Given the description of an element on the screen output the (x, y) to click on. 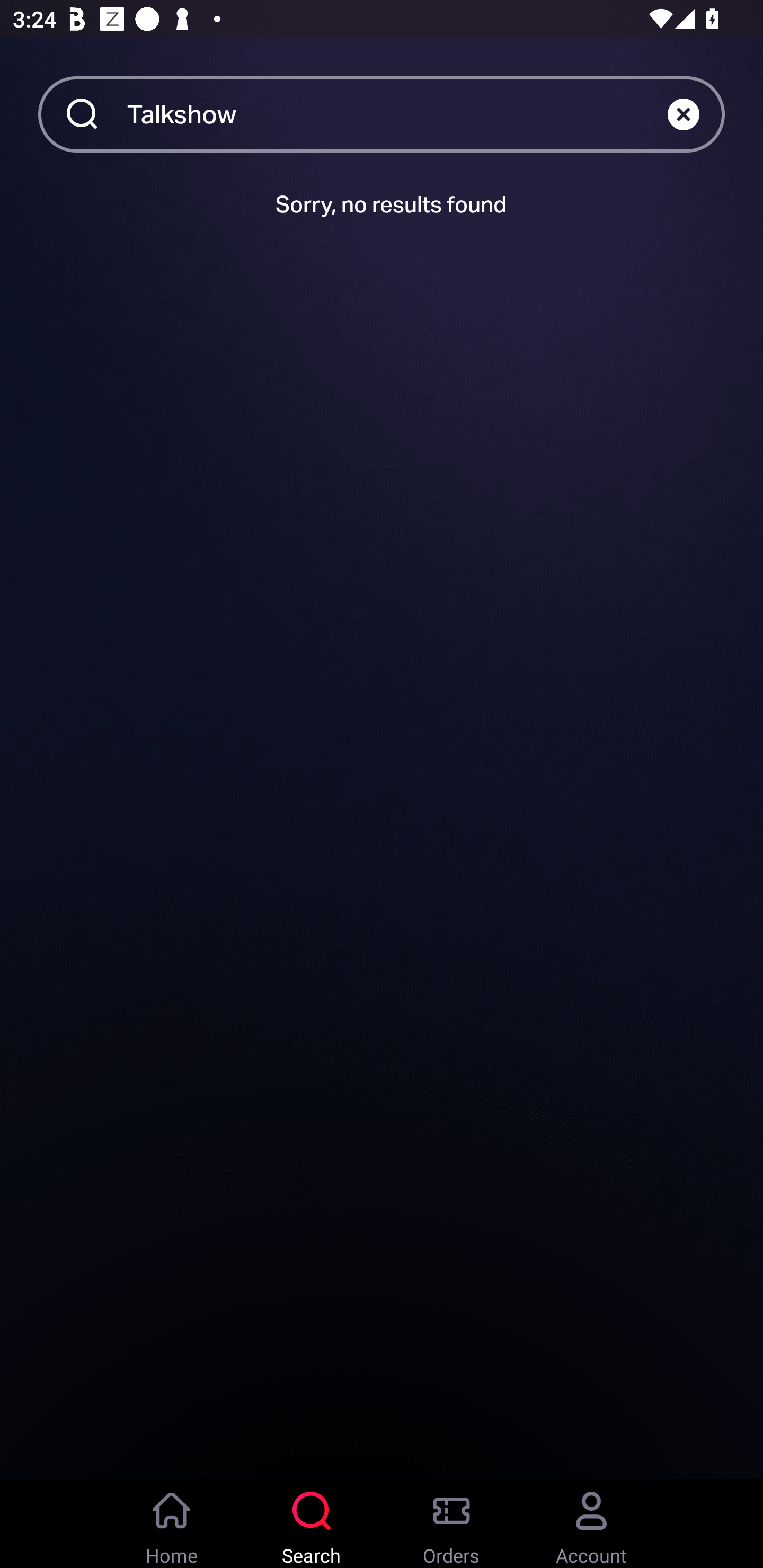
Talkshow (397, 113)
Home (171, 1523)
Orders (451, 1523)
Account (591, 1523)
